Given the description of an element on the screen output the (x, y) to click on. 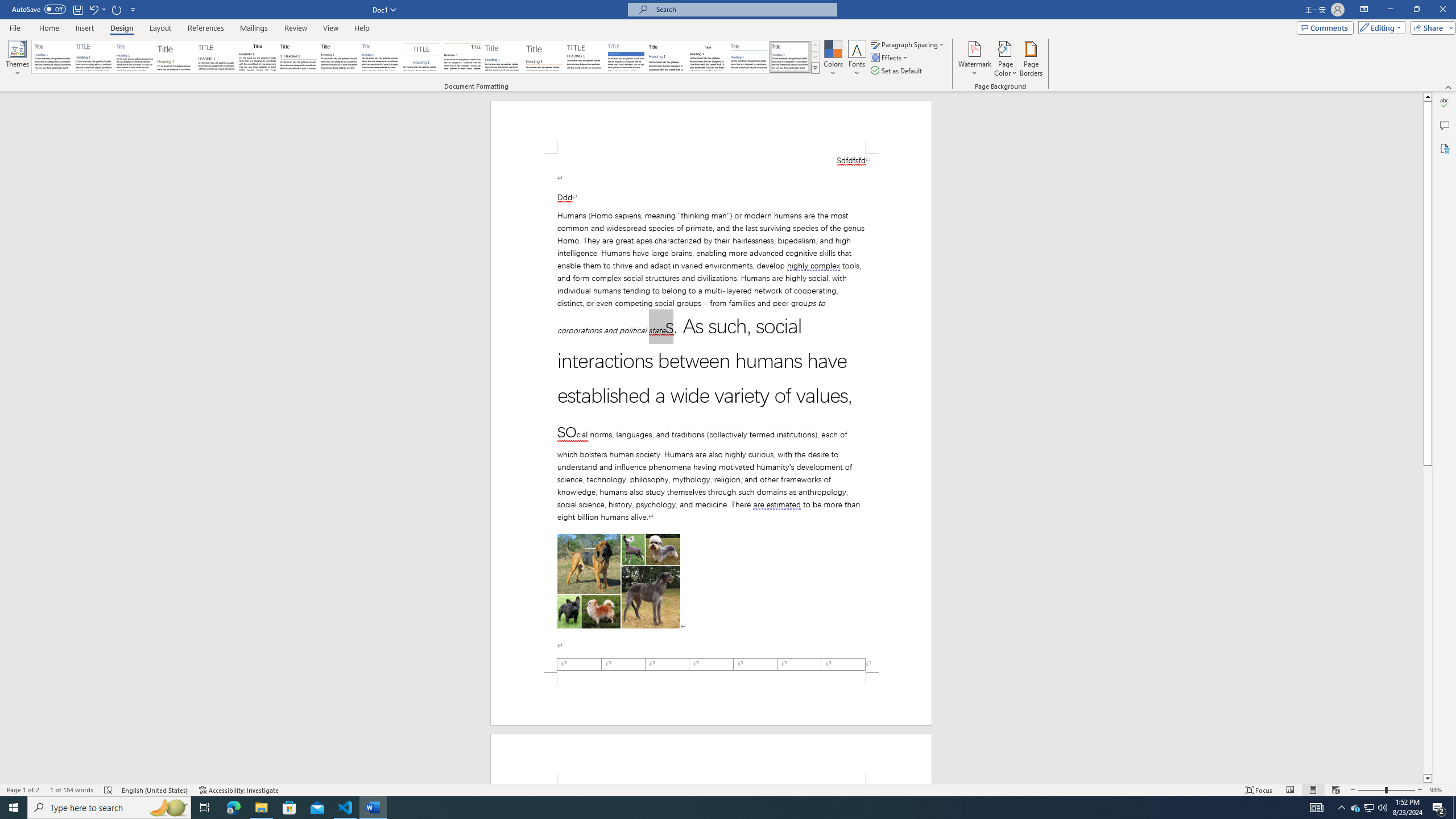
Fonts (856, 58)
Repeat Accessibility Checker (117, 9)
Home (48, 28)
Minimalist (584, 56)
Language English (United States) (154, 790)
Black & White (Numbered) (298, 56)
Share (1430, 27)
Themes (17, 58)
Customize Quick Access Toolbar (133, 9)
Comments (1444, 125)
Lines (Simple) (503, 56)
Page Borders... (1031, 58)
Accessibility Checker Accessibility: Investigate (239, 790)
Row Down (814, 56)
